Given the description of an element on the screen output the (x, y) to click on. 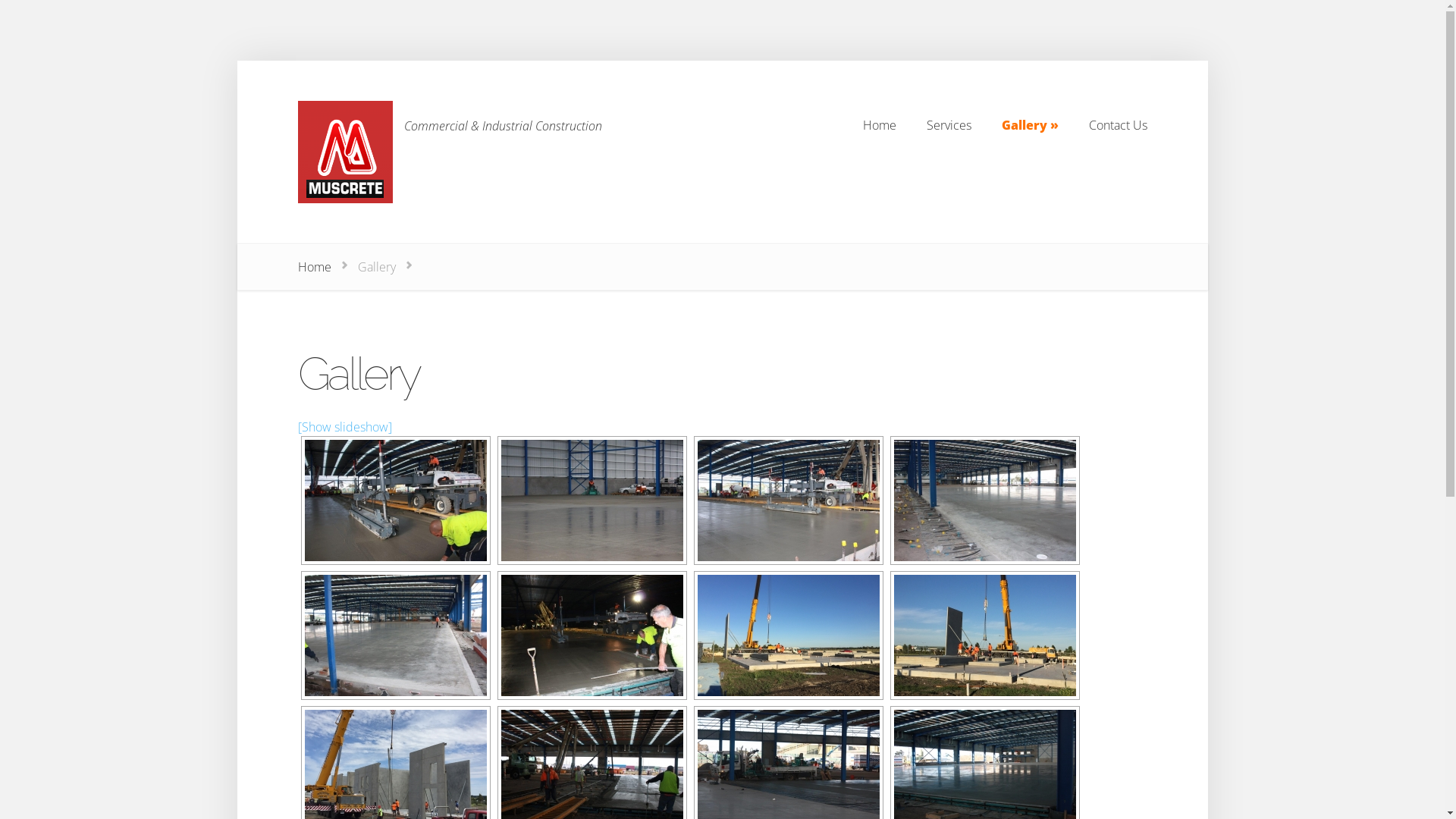
Muscrete Jobs 049 Element type: hover (394, 635)
Muscrete Jobs 053 Element type: hover (592, 635)
IMG_3012 Element type: hover (984, 635)
IMG_3011 Element type: hover (787, 635)
Muscrete Jobs 043 Element type: hover (592, 500)
Home Element type: text (313, 266)
Services Element type: text (949, 124)
[Show slideshow] Element type: text (344, 426)
Home Element type: text (879, 124)
Contact Us Element type: text (1118, 124)
Muscrete Jobs 044 Element type: hover (787, 500)
Muscrete Jobs 048 Element type: hover (984, 500)
Muscrete Jobs 041 Element type: hover (394, 500)
